Given the description of an element on the screen output the (x, y) to click on. 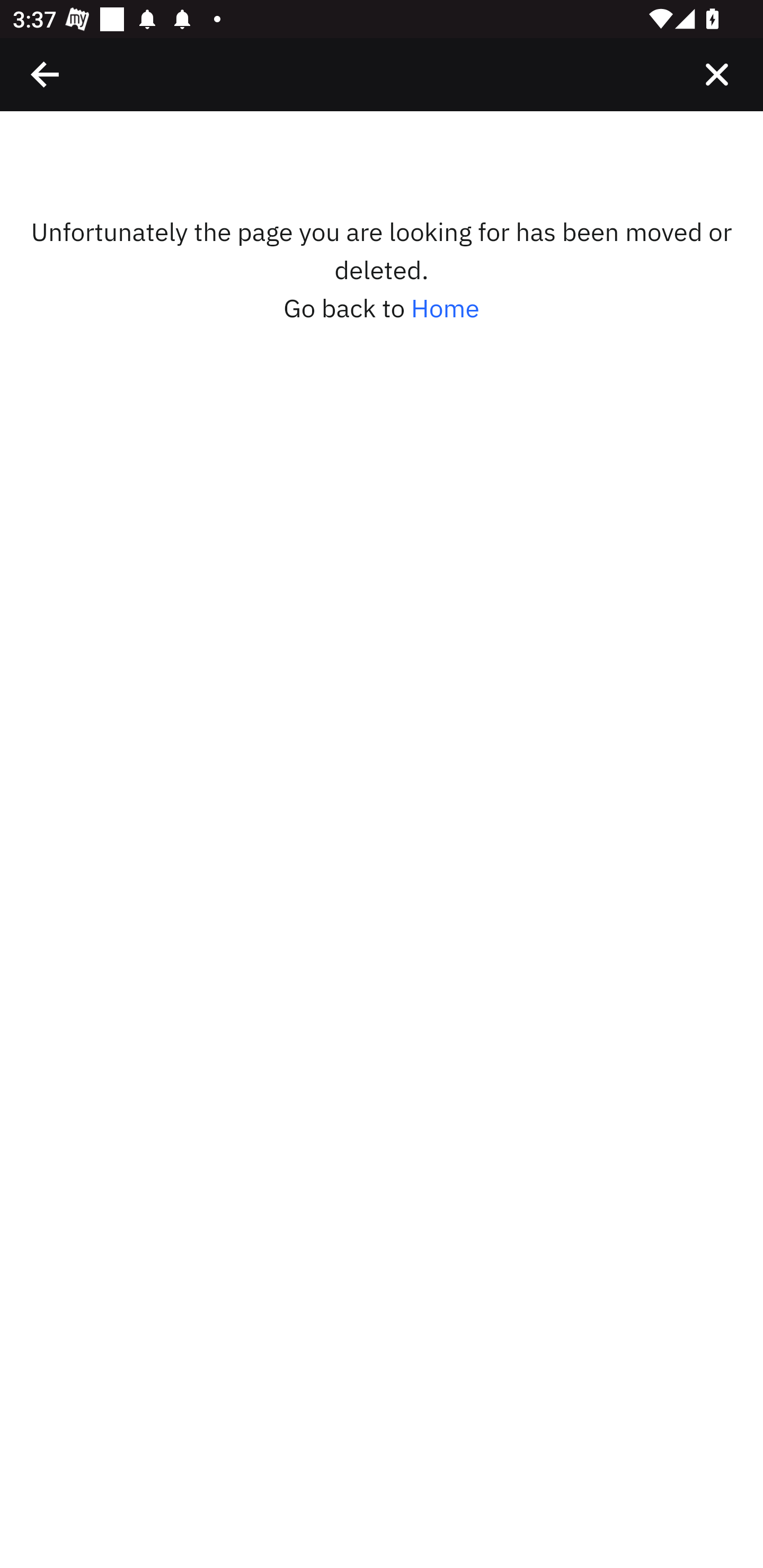
 (46, 74)
 (716, 74)
Home (444, 308)
